Given the description of an element on the screen output the (x, y) to click on. 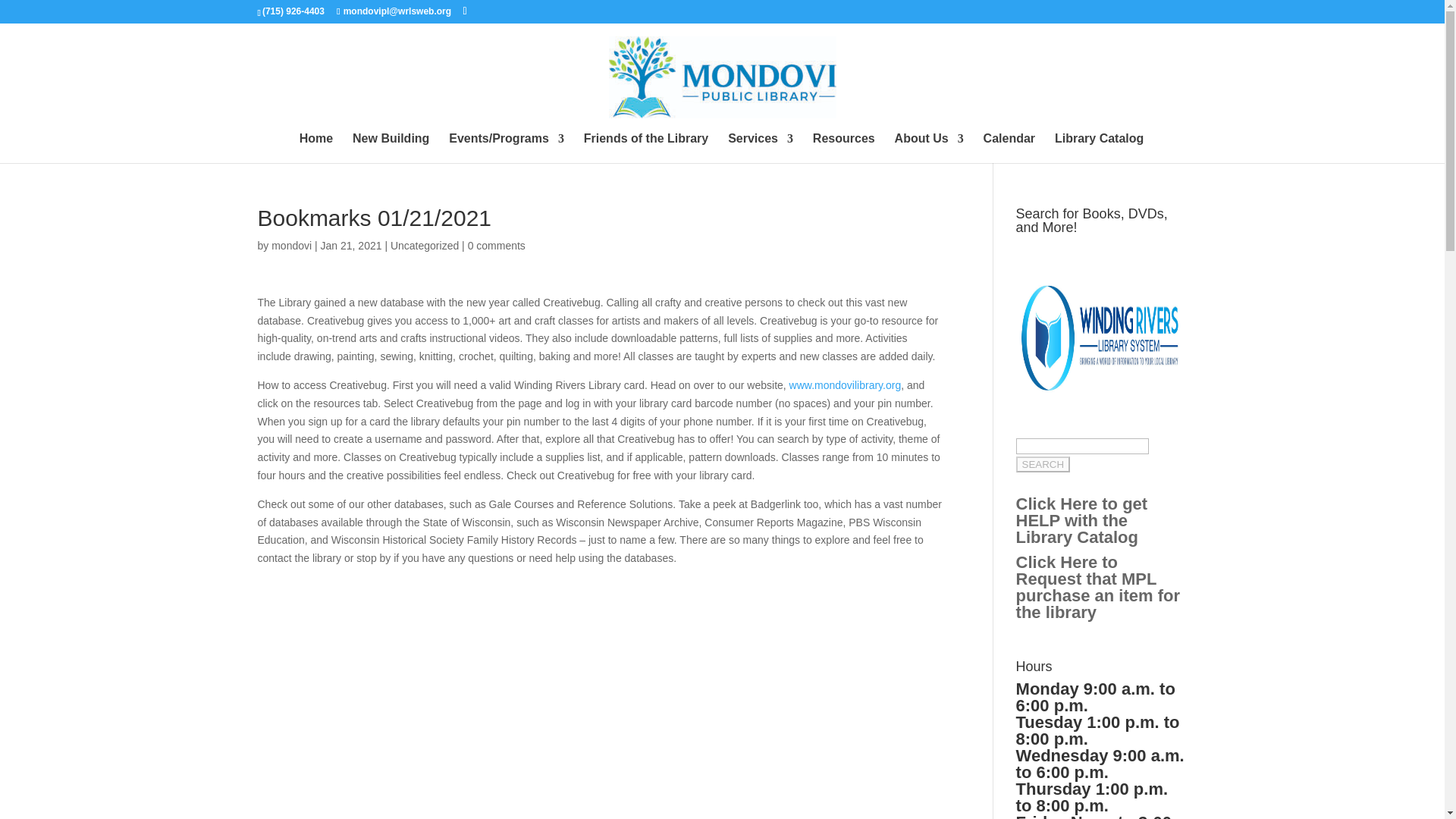
New Building (390, 147)
Calendar (1009, 147)
Posts by mondovi (290, 245)
About Us (929, 147)
SEARCH (1043, 464)
www.mondovilibrary.org (845, 385)
Home (316, 147)
SEARCH (1043, 464)
Click Here to get HELP with the Library Catalog (1082, 520)
